Given the description of an element on the screen output the (x, y) to click on. 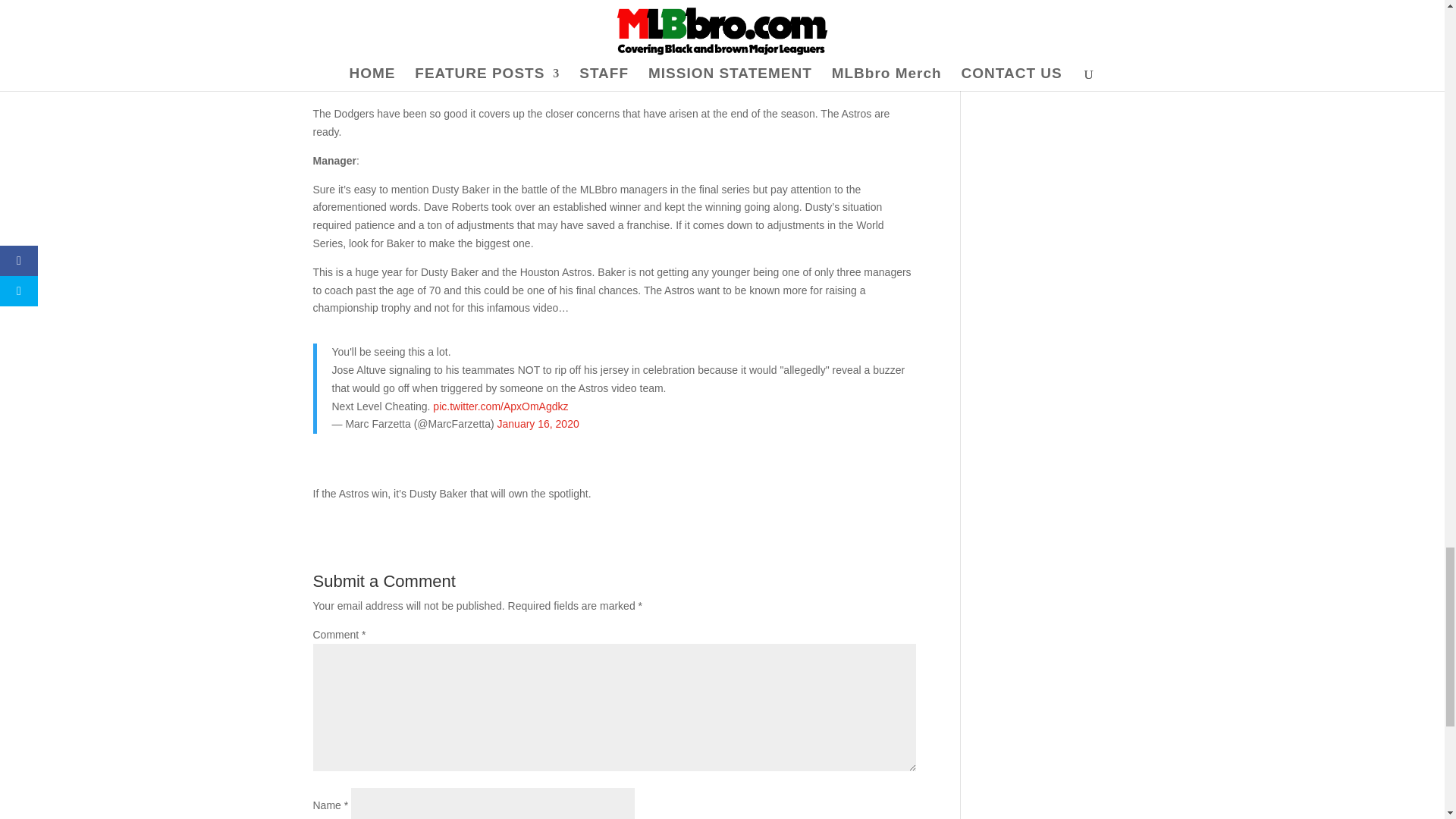
January 16, 2020 (538, 423)
